Given the description of an element on the screen output the (x, y) to click on. 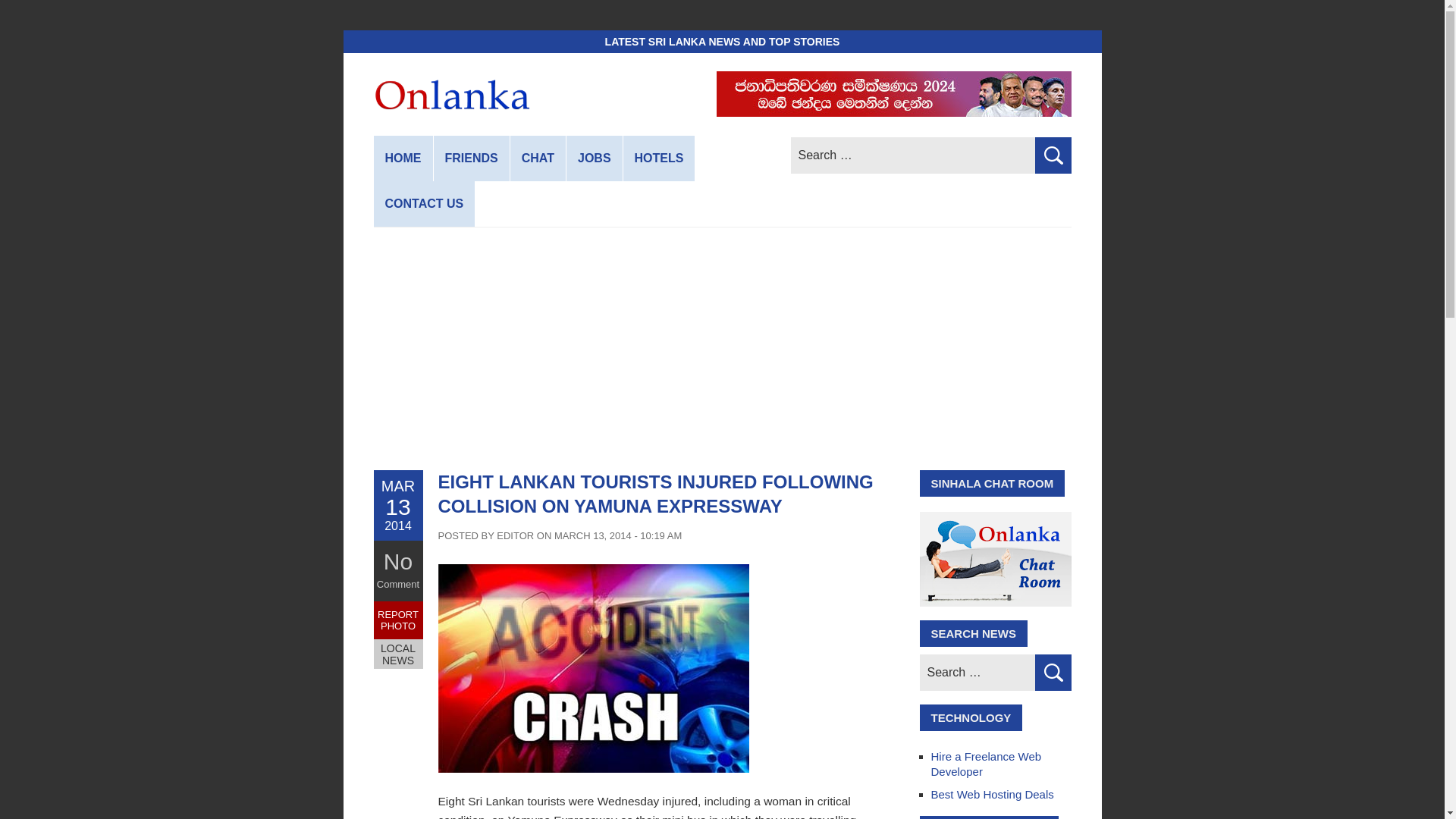
Search (1051, 155)
CONTACT US (423, 203)
Search (1051, 672)
JOBS (594, 157)
LOCAL NEWS (397, 654)
Hire a Freelance Web Developer (986, 764)
HOME (402, 157)
Search (1051, 672)
No (397, 560)
Sri Lanka chat (538, 157)
